Given the description of an element on the screen output the (x, y) to click on. 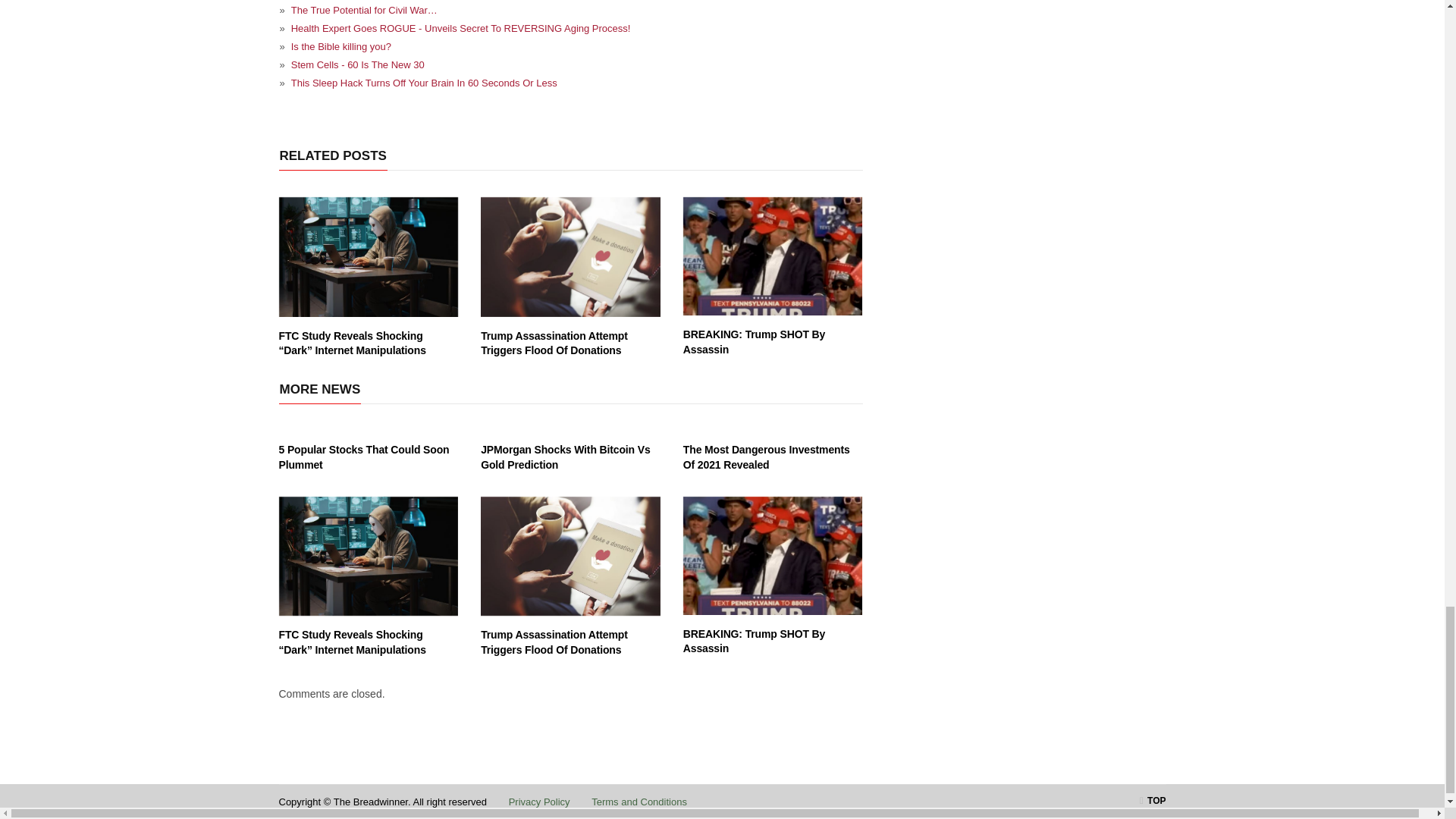
Is the Bible killing you? (571, 46)
Trump Assassination Attempt Triggers Flood Of Donations (570, 256)
